Given the description of an element on the screen output the (x, y) to click on. 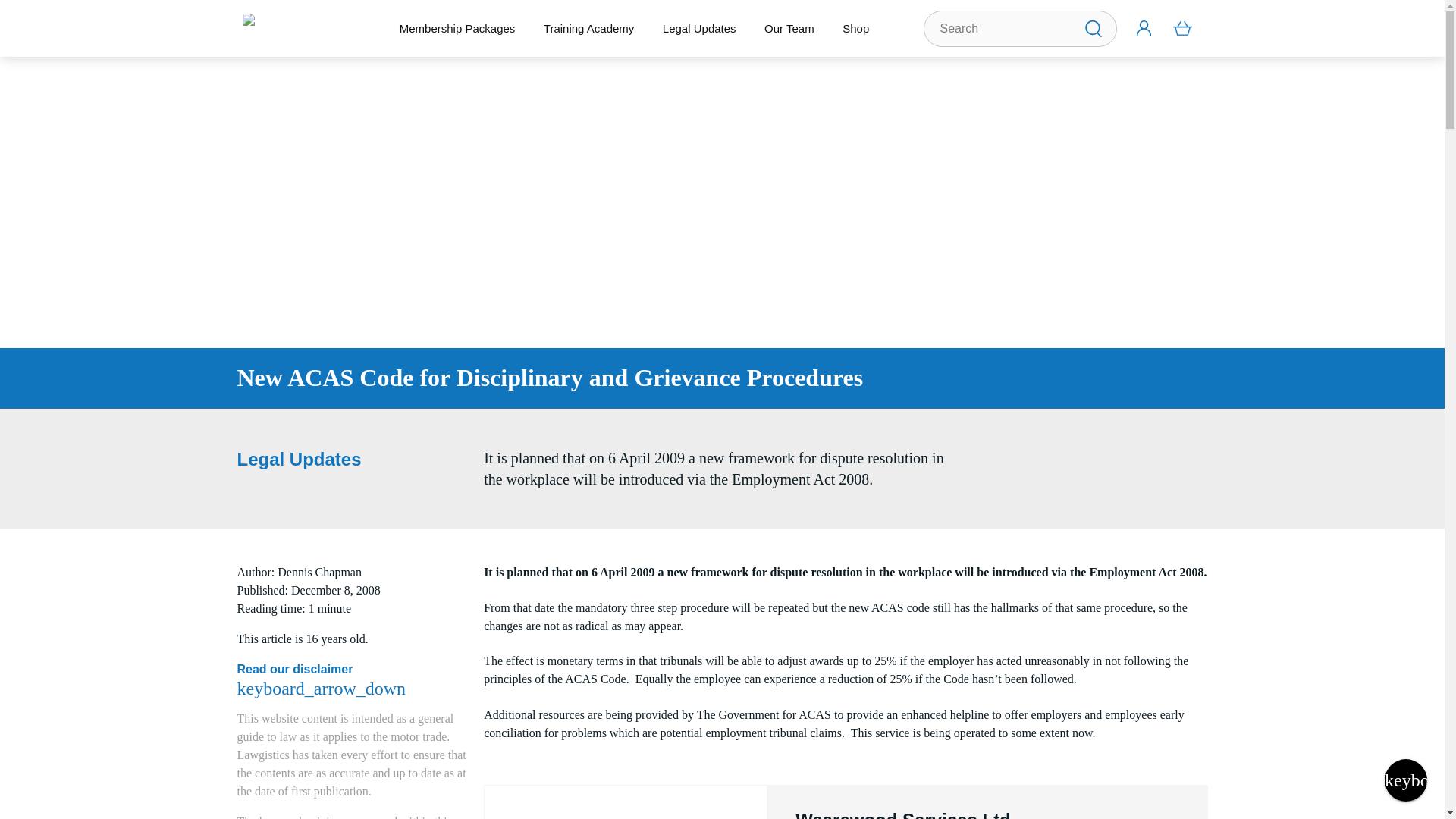
Membership Packages (457, 28)
Training Academy (588, 28)
Legal Updates (698, 28)
Our Team (788, 28)
Shop (855, 28)
